Given the description of an element on the screen output the (x, y) to click on. 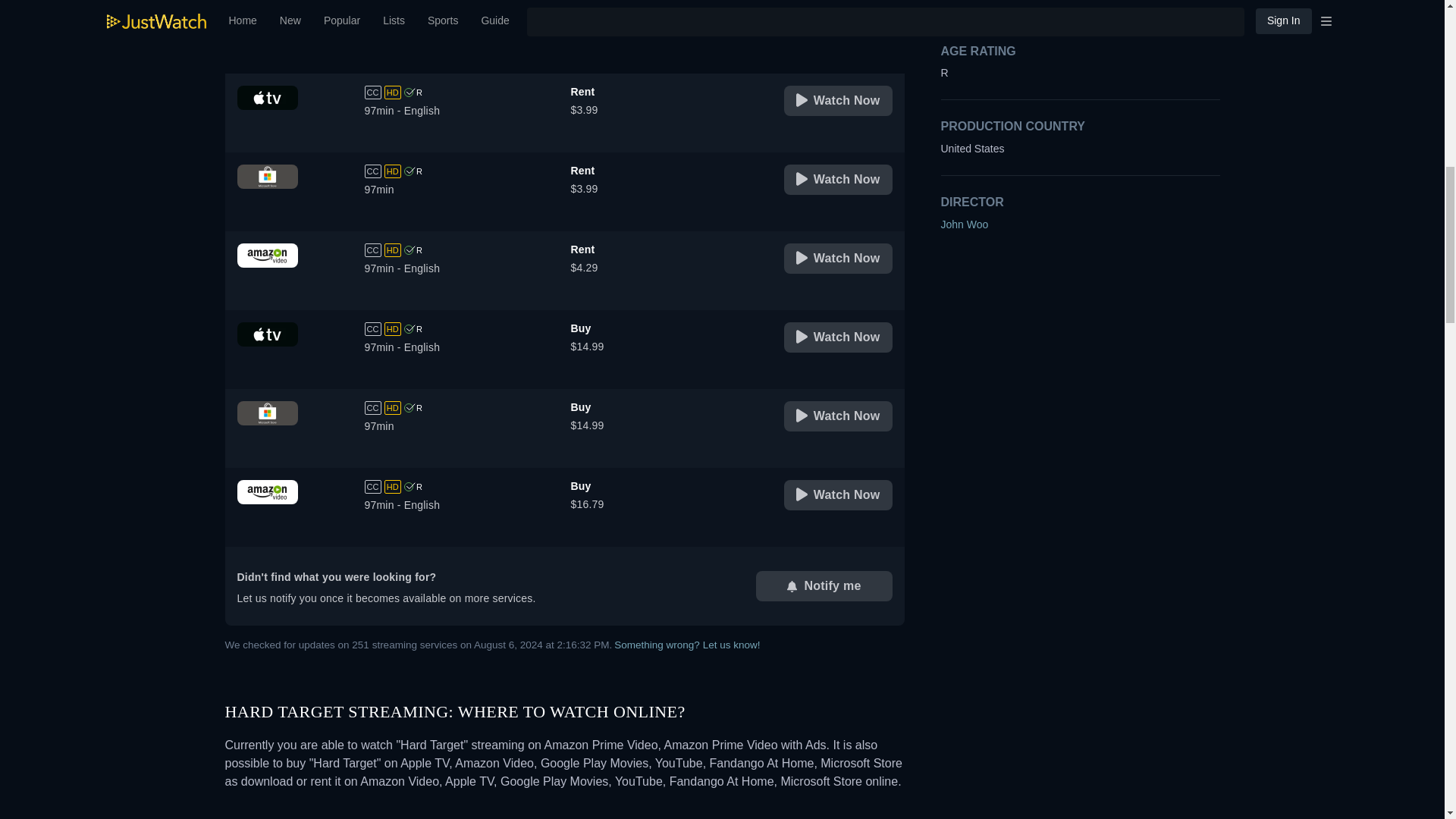
Stream for free (826, 24)
Watch Now (838, 179)
Watch Now (838, 337)
Watch Now (838, 258)
Watch Now (838, 100)
